Given the description of an element on the screen output the (x, y) to click on. 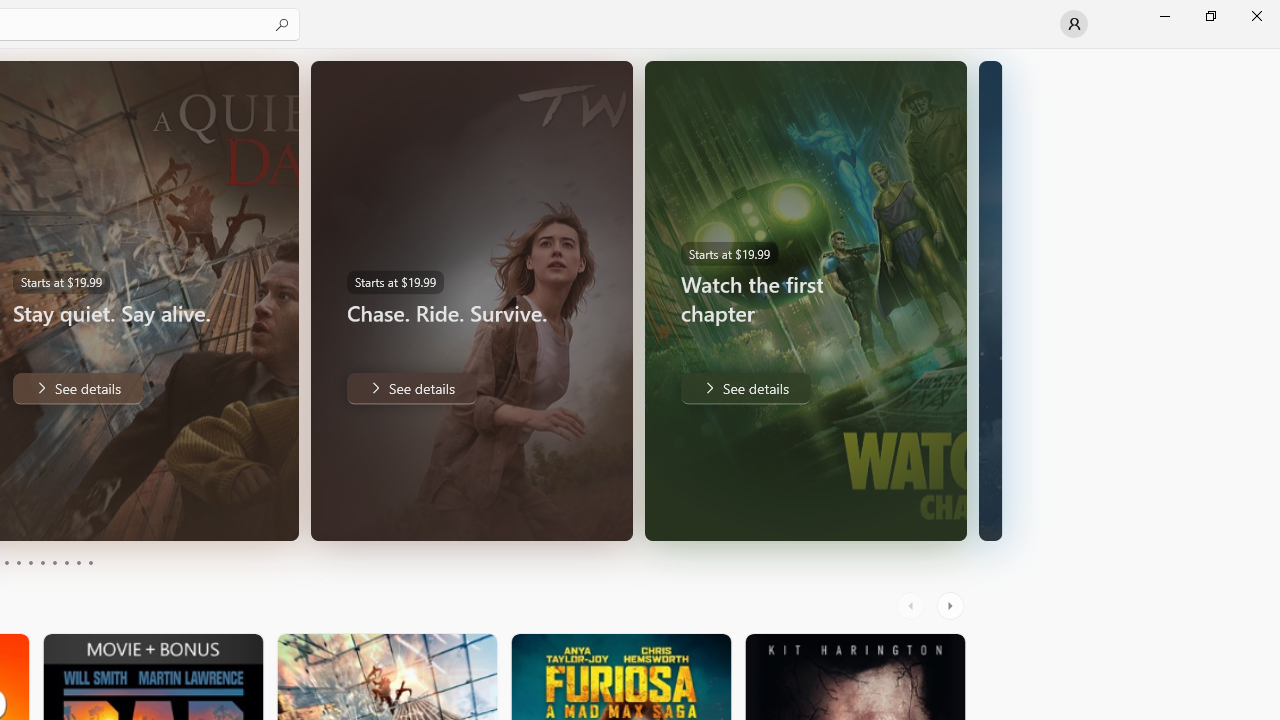
Close Microsoft Store (1256, 15)
